Given the description of an element on the screen output the (x, y) to click on. 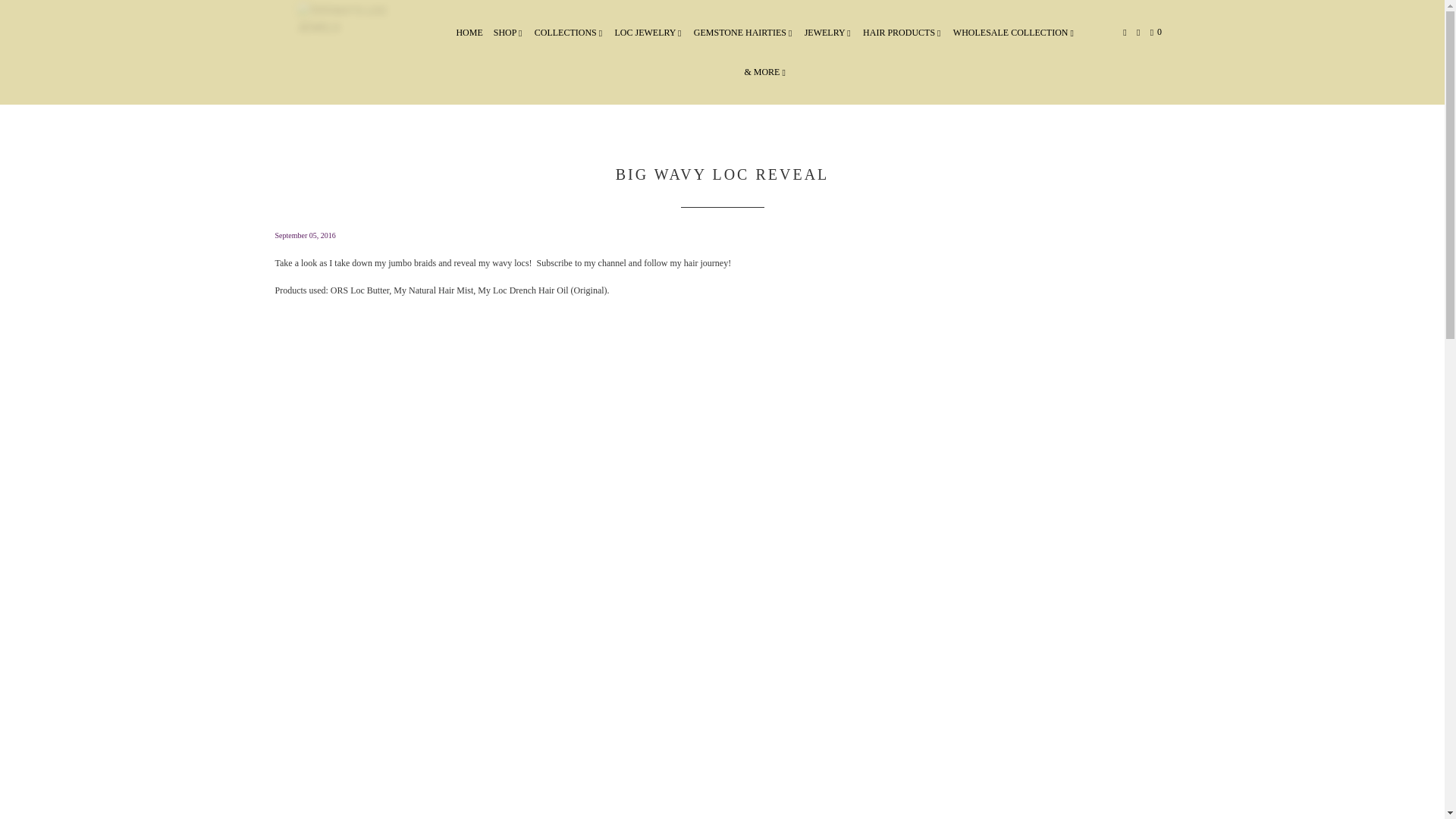
My Account  (1125, 32)
TIFFANY'S LOC JEWELS (342, 52)
Search (1139, 32)
